Given the description of an element on the screen output the (x, y) to click on. 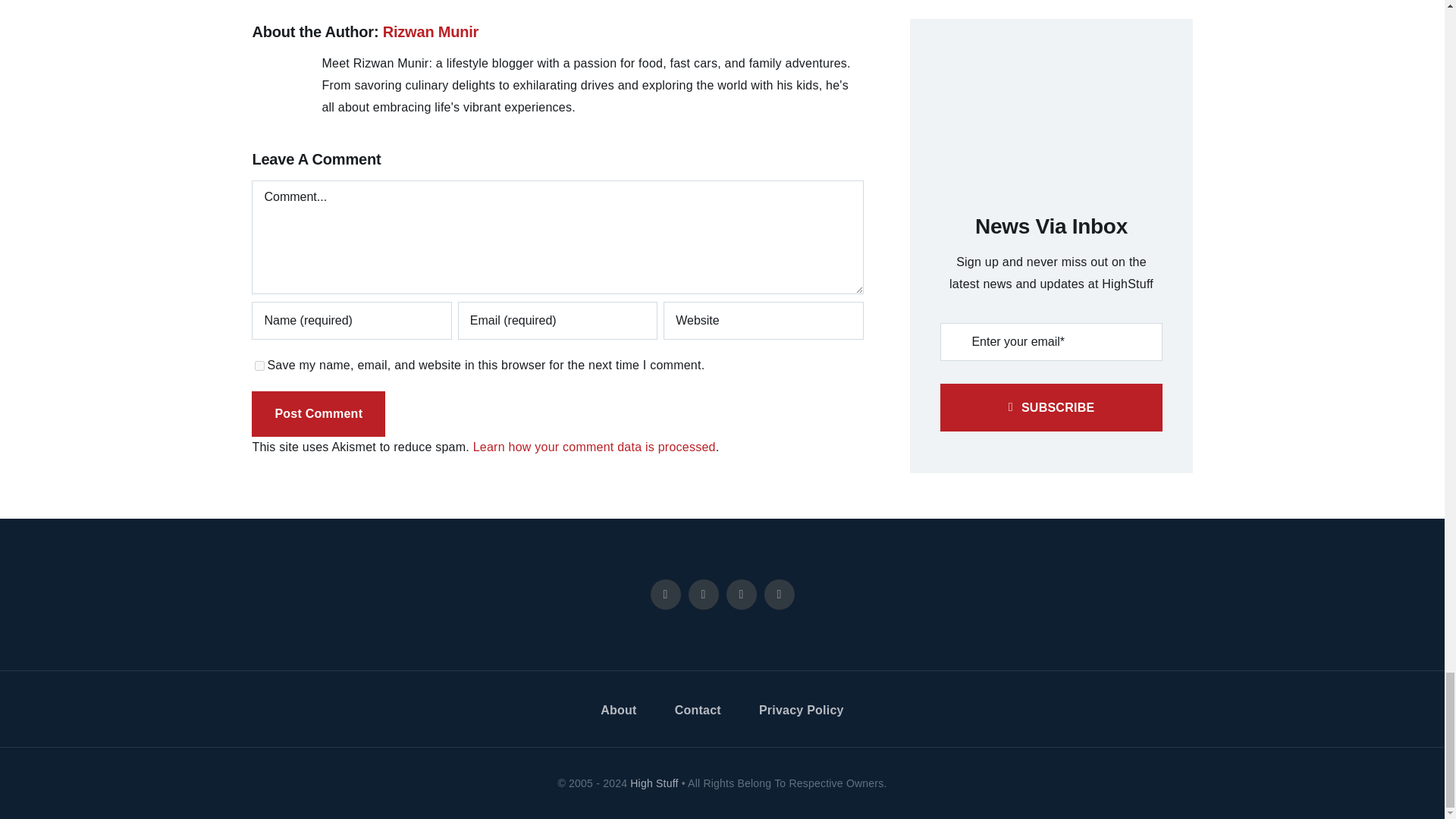
Instagram (741, 594)
Facebook (665, 594)
Post Comment (318, 413)
yes (259, 366)
Pinterest (779, 594)
X (703, 594)
